Given the description of an element on the screen output the (x, y) to click on. 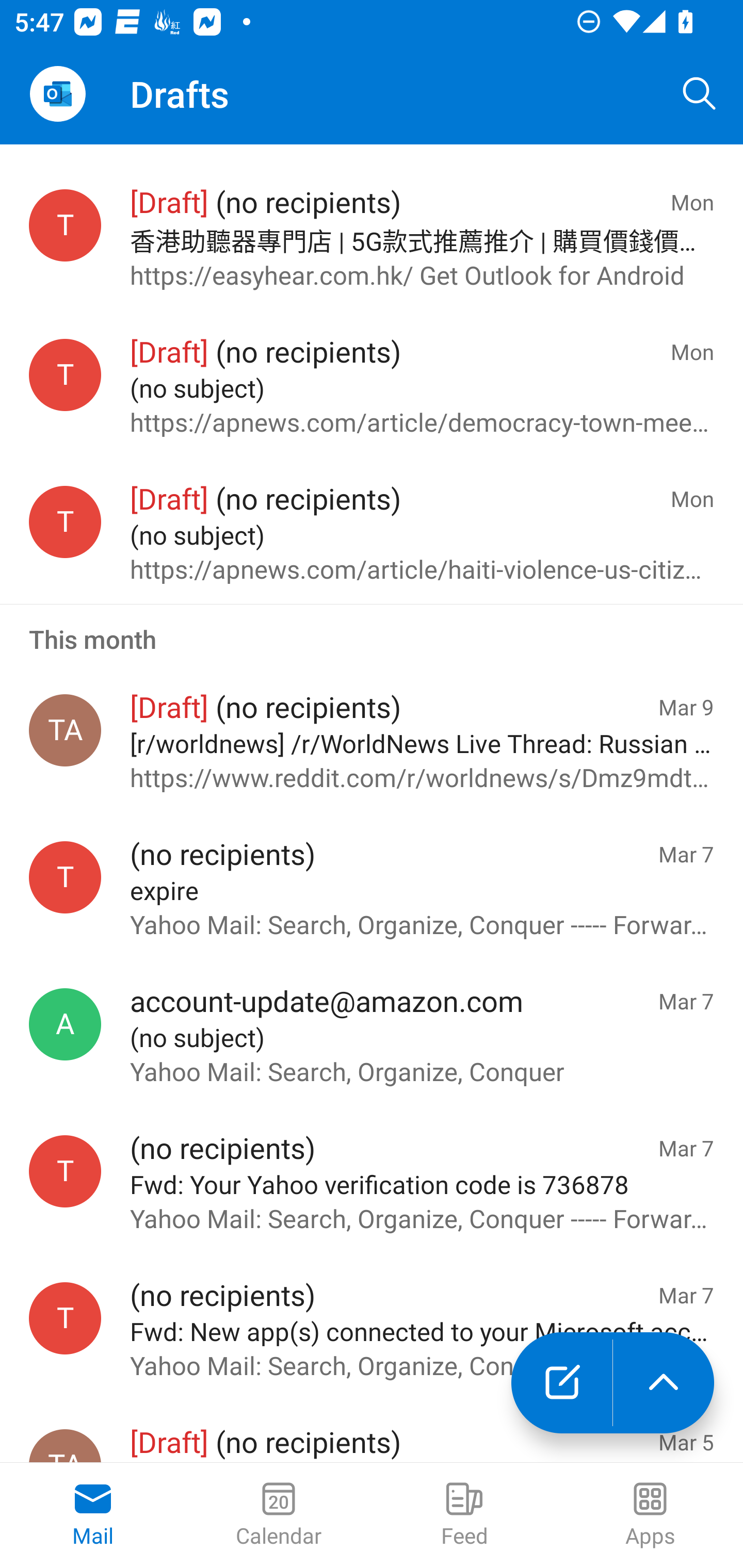
Search, ,  (699, 93)
Open Navigation Drawer (57, 94)
testappium002@outlook.com (64, 225)
testappium002@outlook.com (64, 374)
testappium002@outlook.com (64, 522)
Test Appium, testappium002@outlook.com (64, 730)
testappium002@outlook.com (64, 878)
testappium002@outlook.com (64, 1171)
testappium002@outlook.com (64, 1318)
New mail (561, 1382)
launch the extended action menu (663, 1382)
Calendar (278, 1515)
Feed (464, 1515)
Apps (650, 1515)
